Given the description of an element on the screen output the (x, y) to click on. 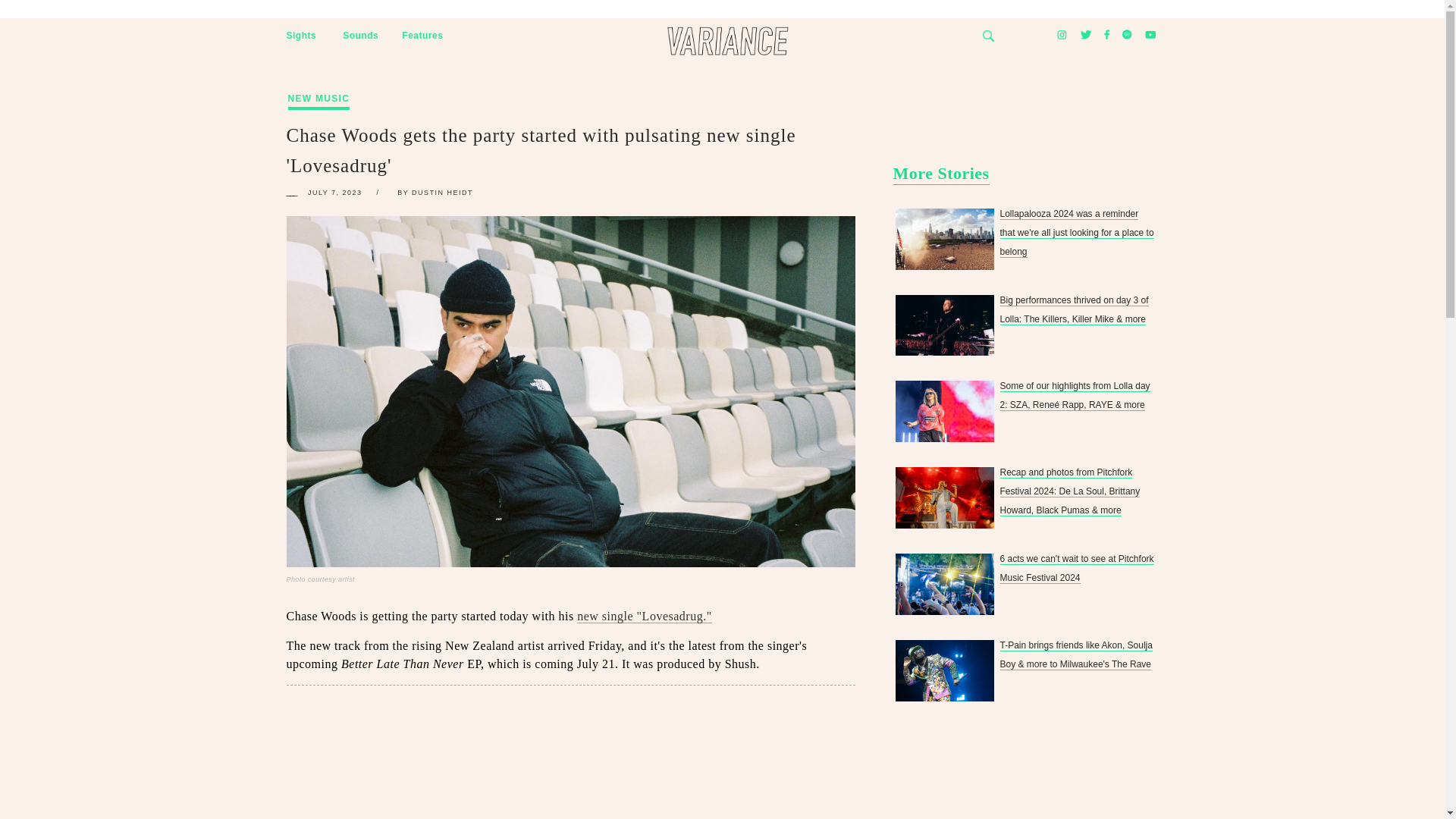
Sights (301, 36)
Sounds (360, 36)
Features (421, 36)
new single "Lovesadrug." (643, 616)
Advertisement (571, 760)
